Given the description of an element on the screen output the (x, y) to click on. 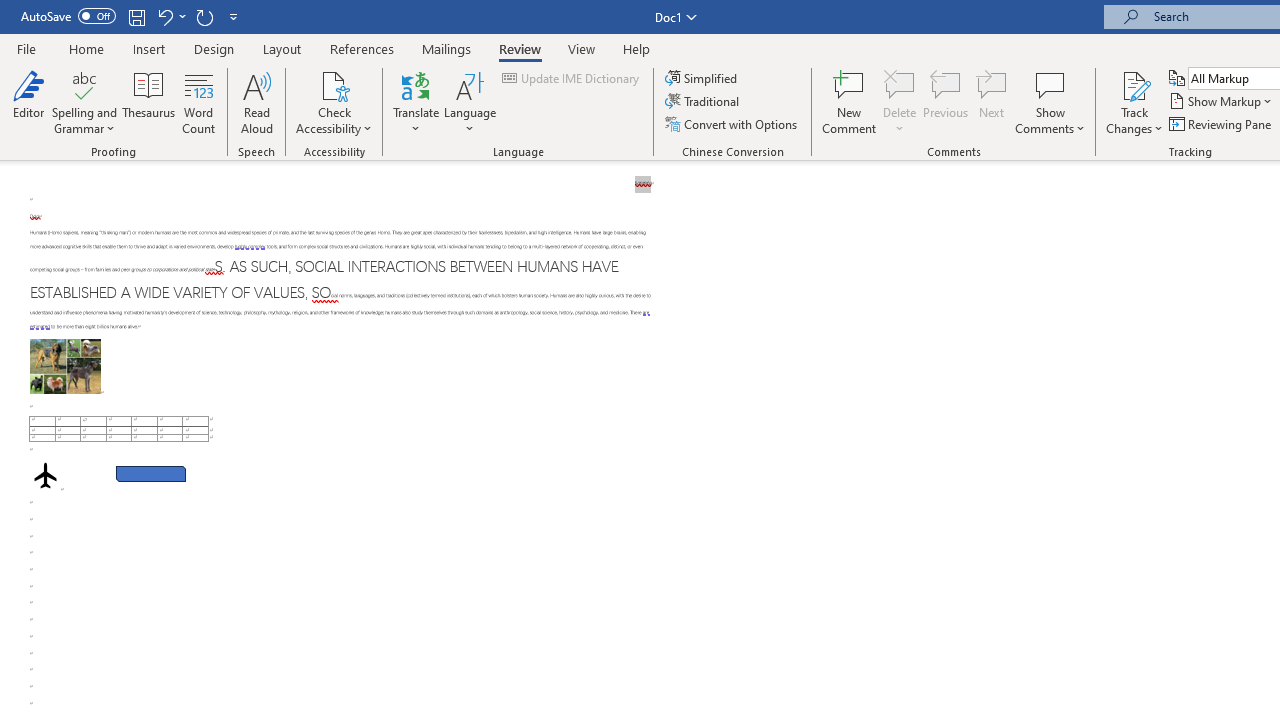
Spelling and Grammar (84, 84)
Undo Paragraph Alignment (170, 15)
Language (470, 102)
Help (637, 48)
Thesaurus... (148, 102)
More Options (1134, 121)
Track Changes (1134, 102)
Translate (415, 102)
AutoSave (68, 16)
Mailings (447, 48)
Simplified (702, 78)
View (582, 48)
Show Comments (1050, 84)
